Given the description of an element on the screen output the (x, y) to click on. 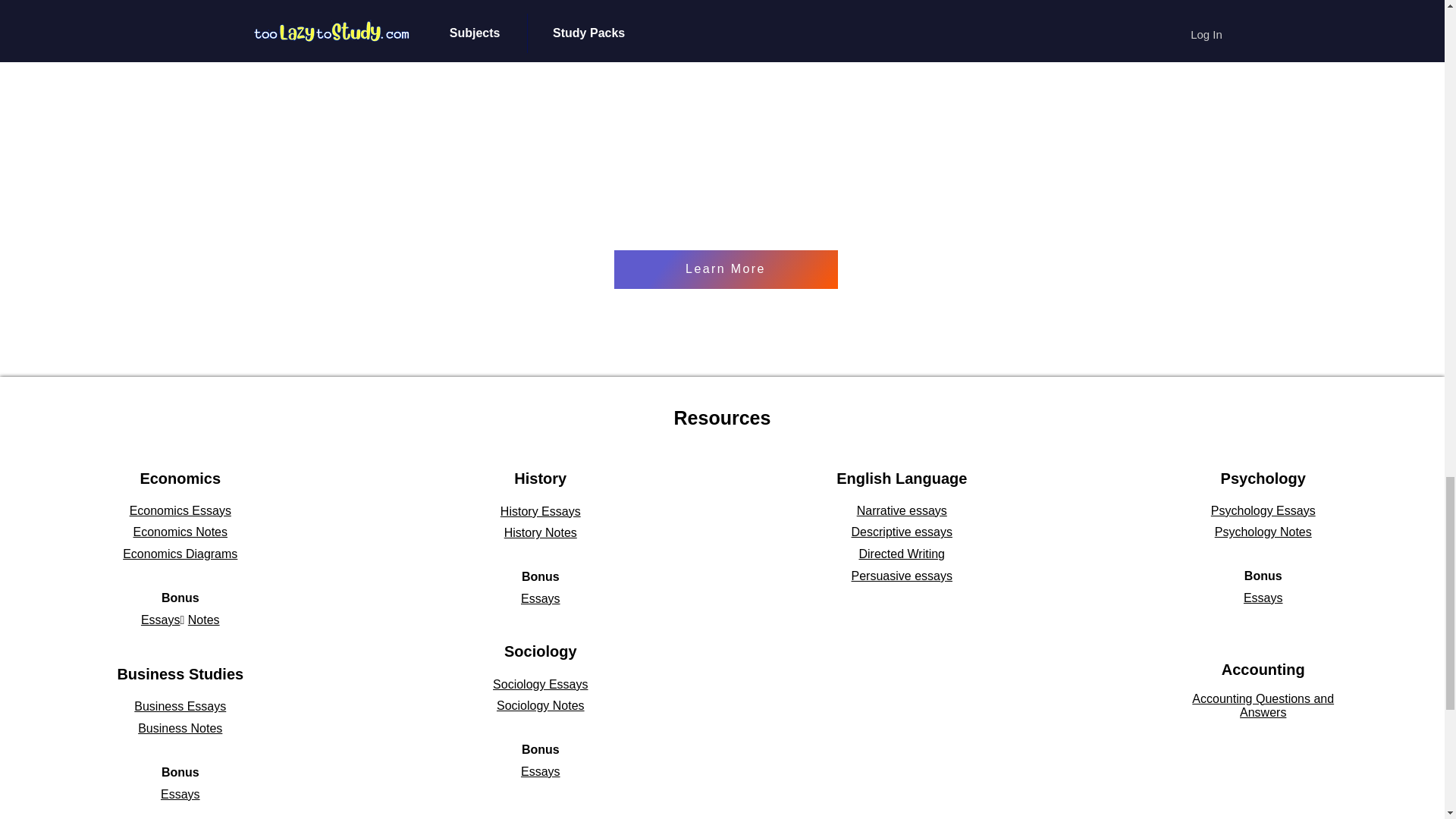
Narrative essays (902, 510)
Learn More (726, 269)
Economics Diagrams (179, 553)
Descriptive essays (901, 531)
Economics Essays (180, 510)
Business Notes (180, 727)
Essays (180, 793)
Directed Writing (901, 553)
Notes (203, 619)
Economics Notes (180, 531)
Essays (540, 771)
Sociology Notes (540, 705)
Essays (160, 619)
Essays (540, 598)
History Essays (540, 511)
